Given the description of an element on the screen output the (x, y) to click on. 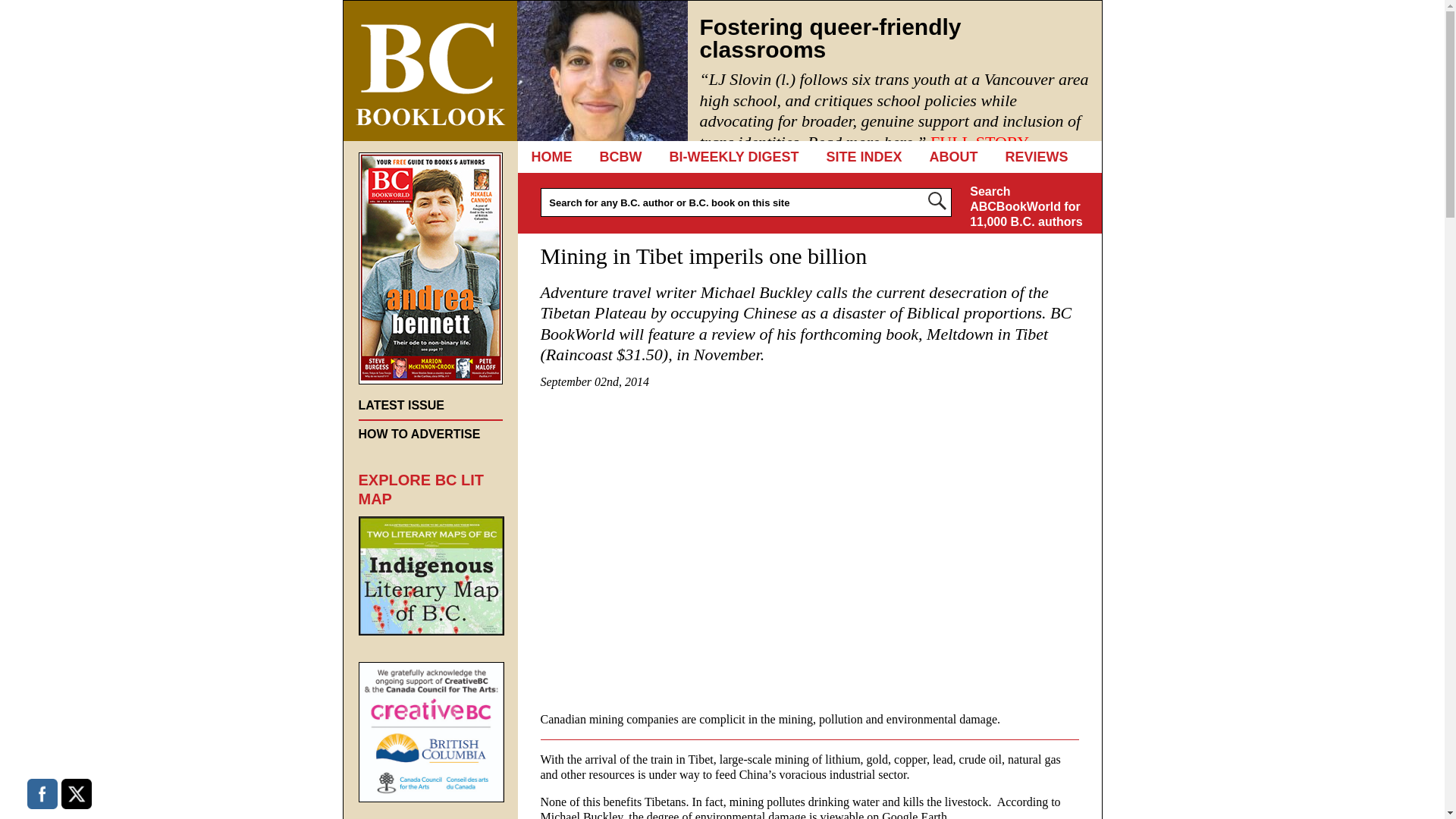
REVIEWS (1036, 156)
Facebook (42, 793)
BC Booklook (429, 70)
SITE INDEX (863, 156)
BCBW (620, 156)
Twitter (76, 793)
Skip to content (589, 156)
BI-WEEKLY DIGEST (733, 156)
FULL STORY (979, 140)
HOME (550, 156)
